Given the description of an element on the screen output the (x, y) to click on. 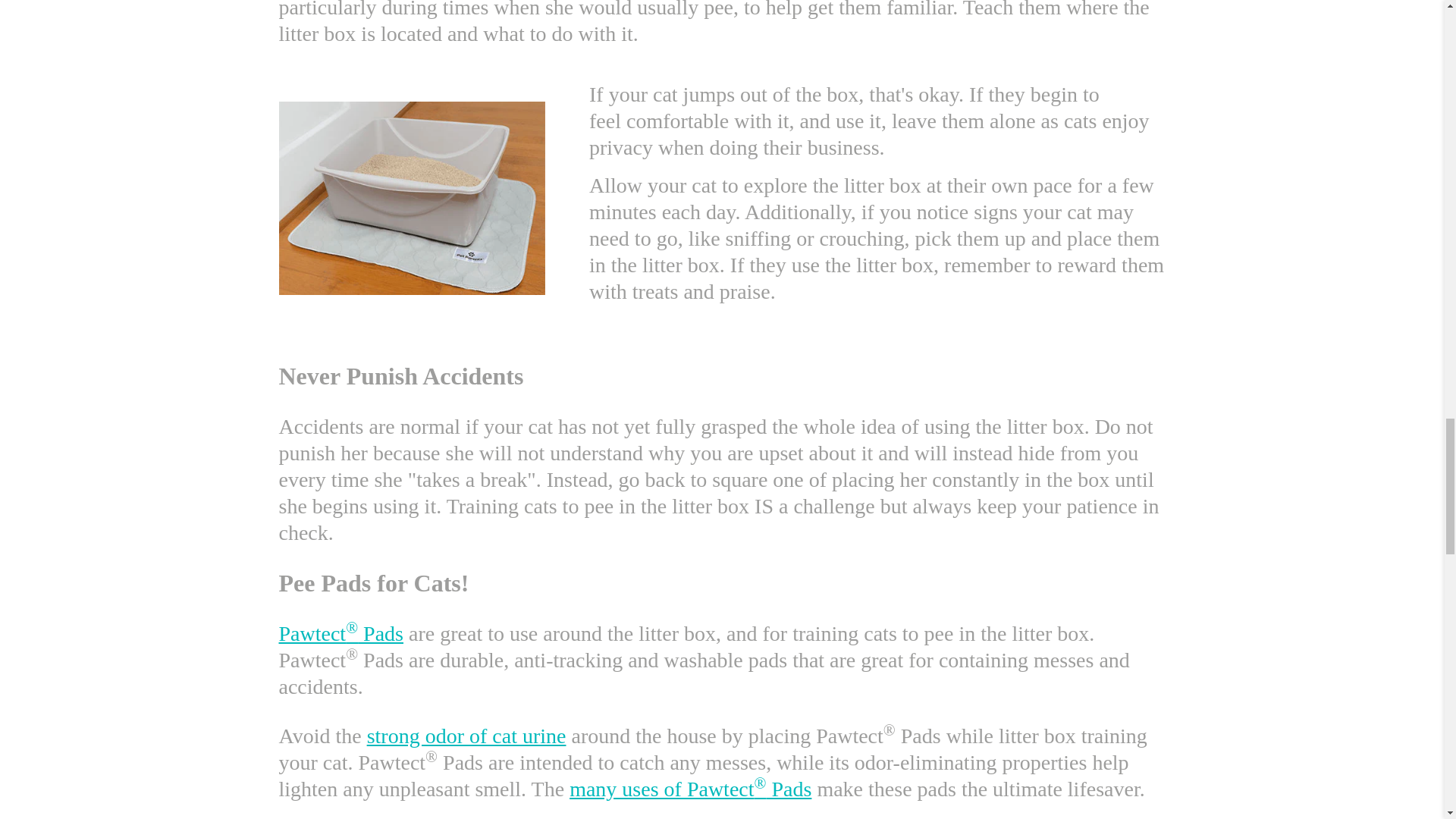
cat urine strong odor (466, 735)
